Given the description of an element on the screen output the (x, y) to click on. 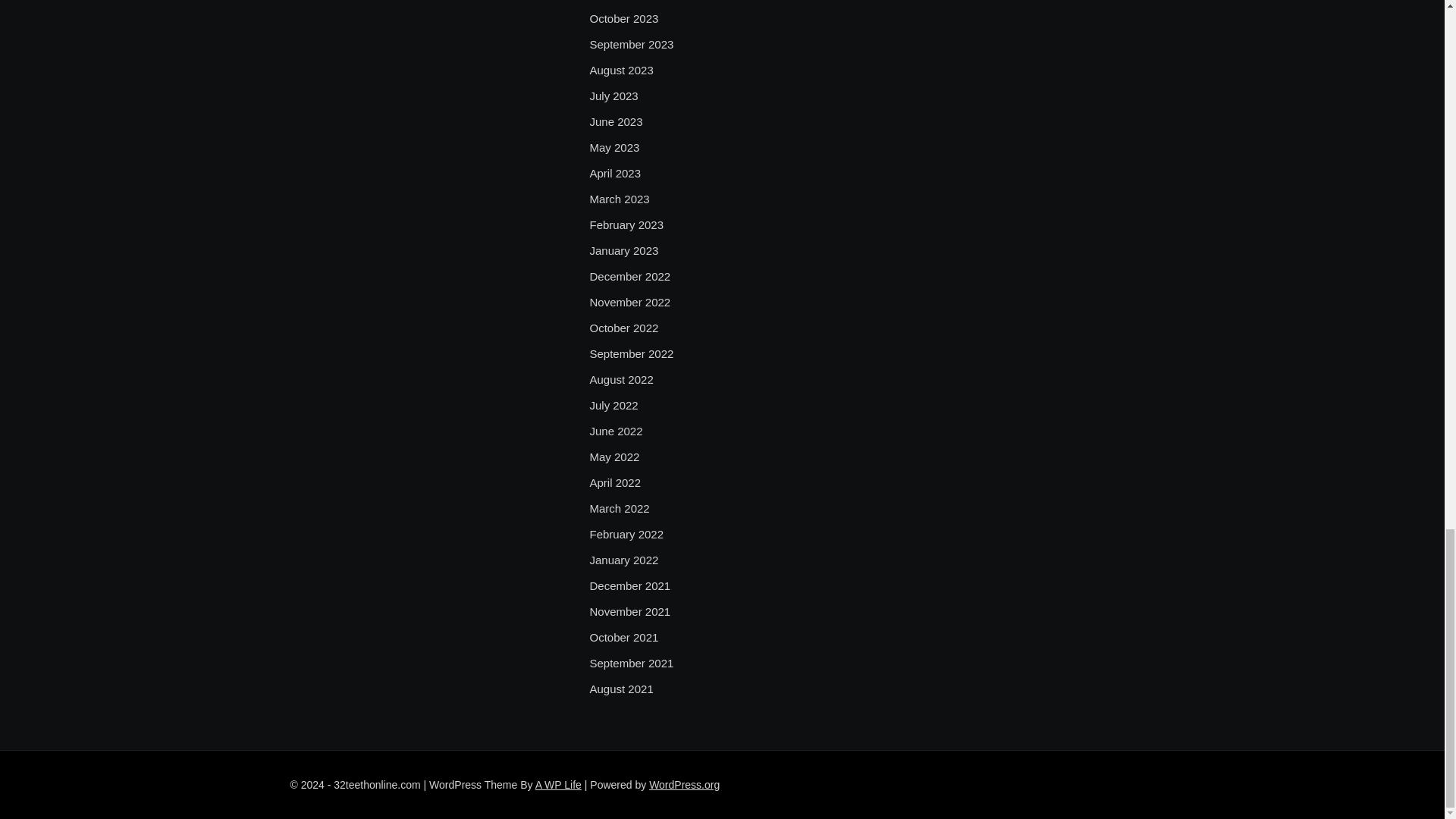
August 2023 (620, 70)
May 2023 (614, 147)
April 2023 (614, 173)
June 2023 (615, 122)
February 2023 (626, 225)
July 2023 (613, 95)
March 2023 (619, 199)
September 2023 (630, 45)
November 2023 (629, 1)
October 2023 (623, 18)
